Given the description of an element on the screen output the (x, y) to click on. 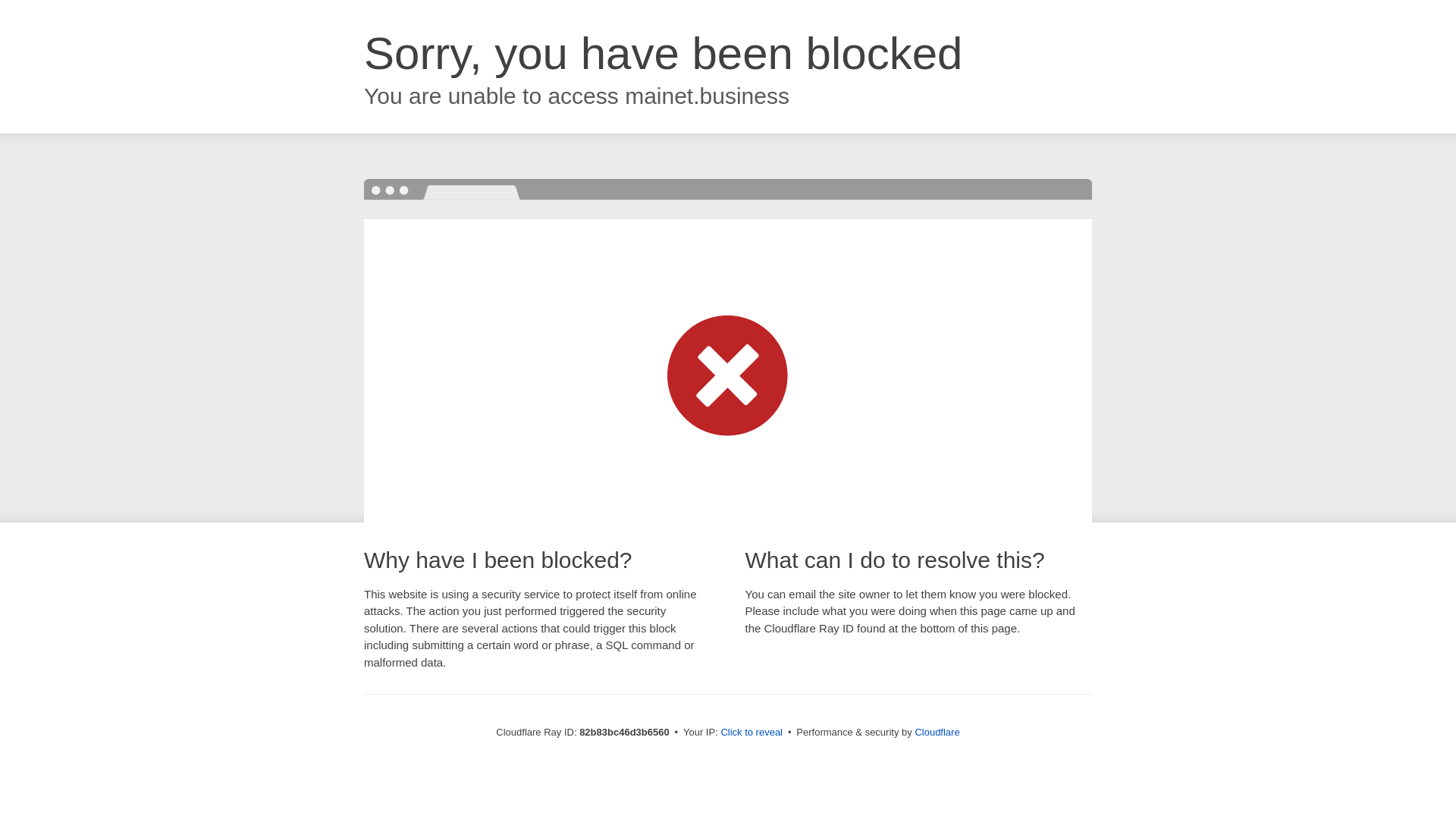
Click to reveal Element type: text (751, 732)
Cloudflare Element type: text (936, 731)
